Given the description of an element on the screen output the (x, y) to click on. 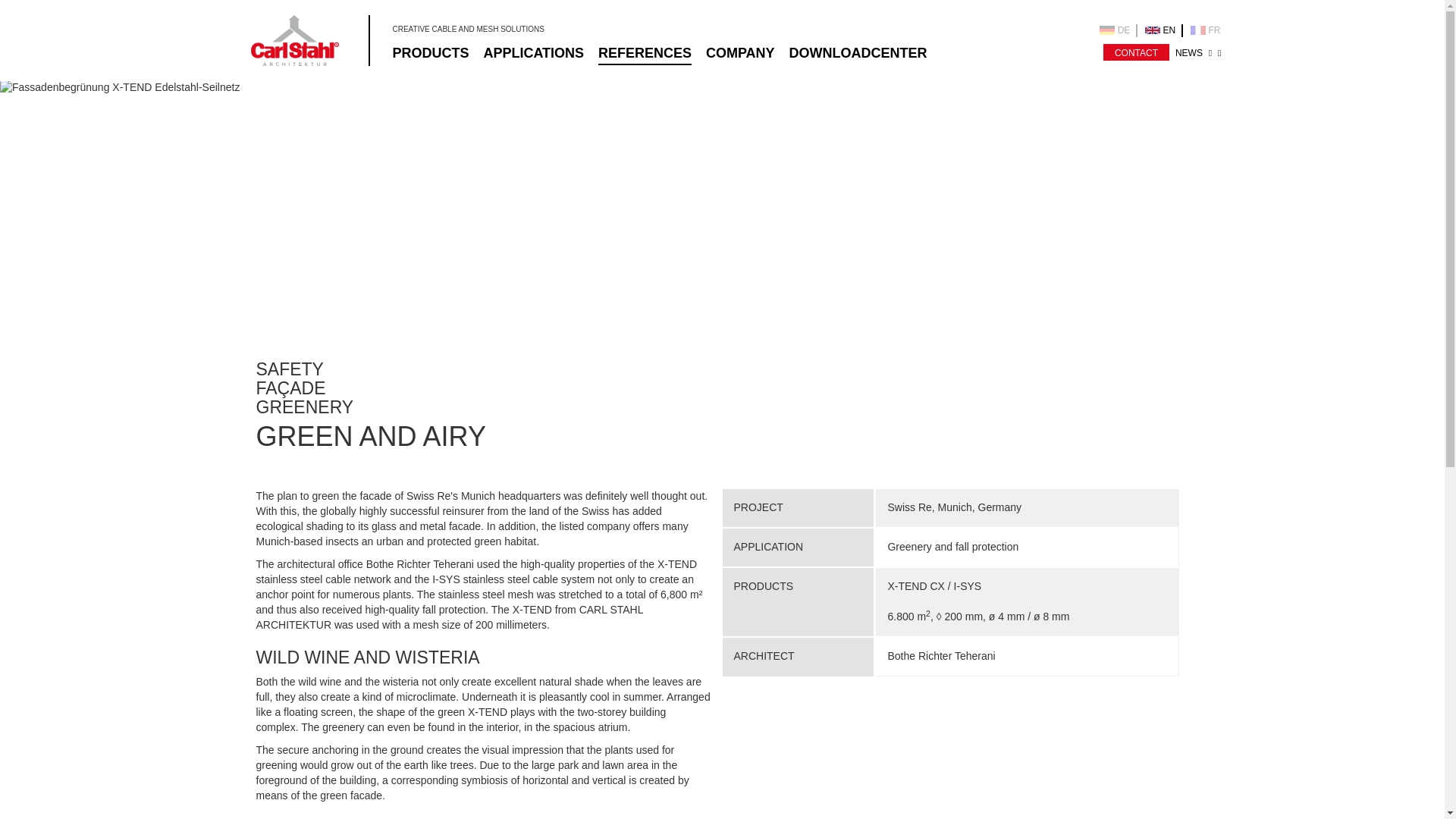
References (644, 52)
News (1188, 52)
COMPANY (740, 52)
FR (1205, 30)
DOWNLOADCENTER (857, 52)
Company (740, 52)
DE (1118, 30)
Downloadcenter (857, 52)
Contact (1136, 52)
Applications (533, 52)
